Given the description of an element on the screen output the (x, y) to click on. 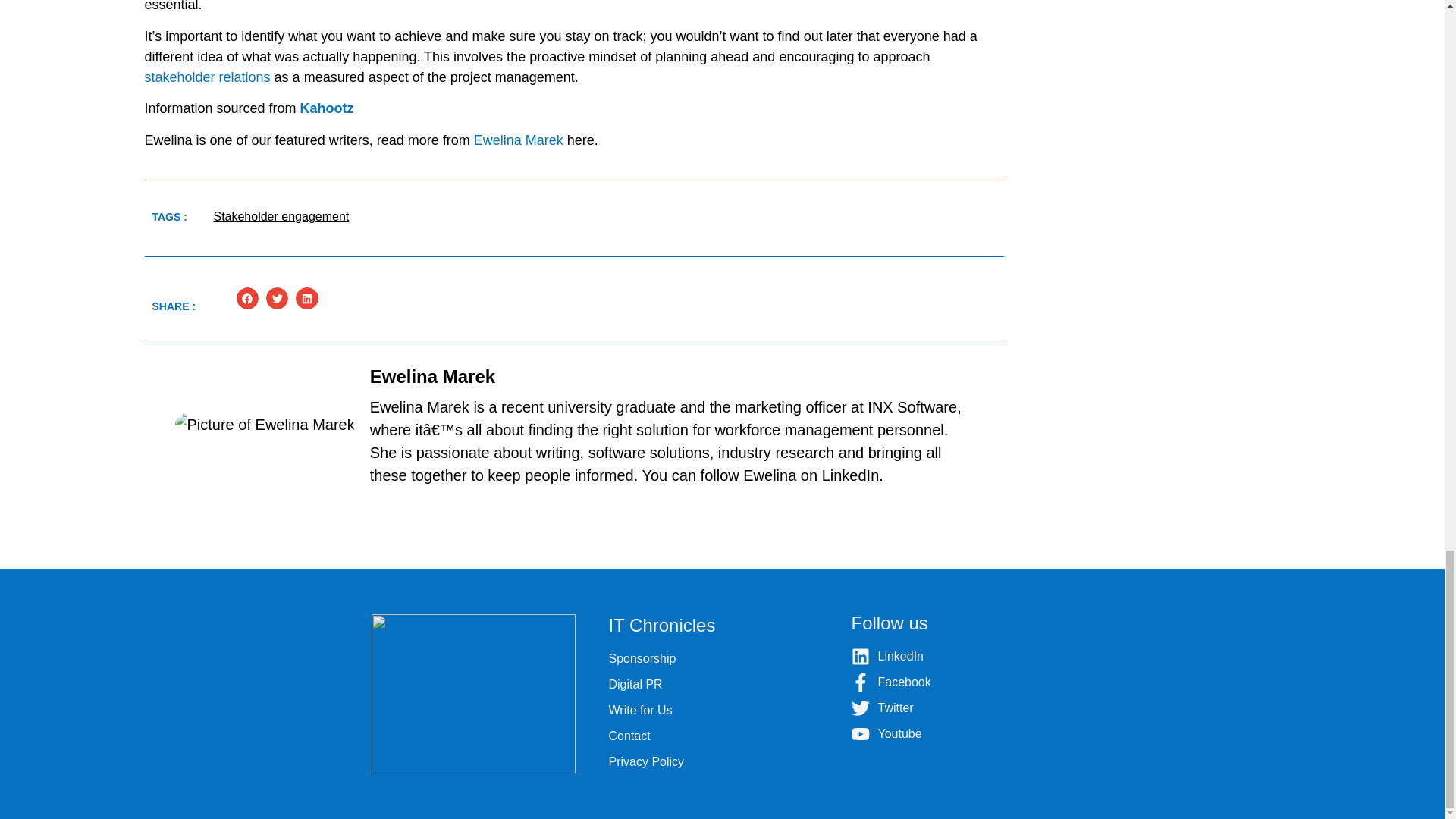
Kahootz (326, 108)
stakeholder relations (206, 77)
Write for Us (721, 710)
Digital PR (721, 684)
Sponsorship (721, 659)
Stakeholder engagement (280, 215)
Ewelina Marek (518, 140)
